Given the description of an element on the screen output the (x, y) to click on. 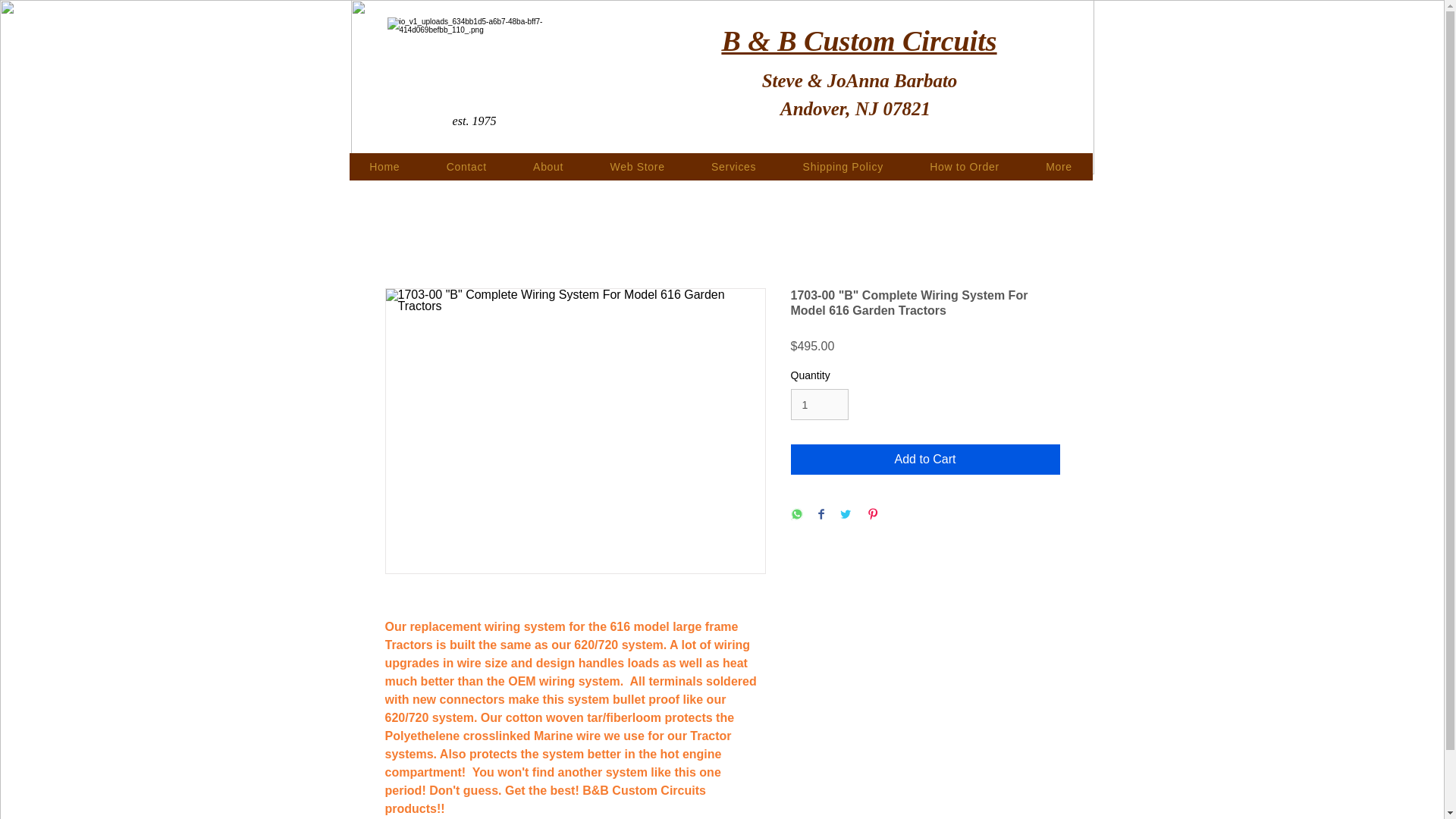
Contact (466, 166)
More (1058, 166)
Services (733, 166)
Home (384, 166)
Web Store (637, 166)
Add to Cart (924, 459)
How to Order (965, 166)
1 (818, 404)
Shipping Policy (843, 166)
About (547, 166)
